Given the description of an element on the screen output the (x, y) to click on. 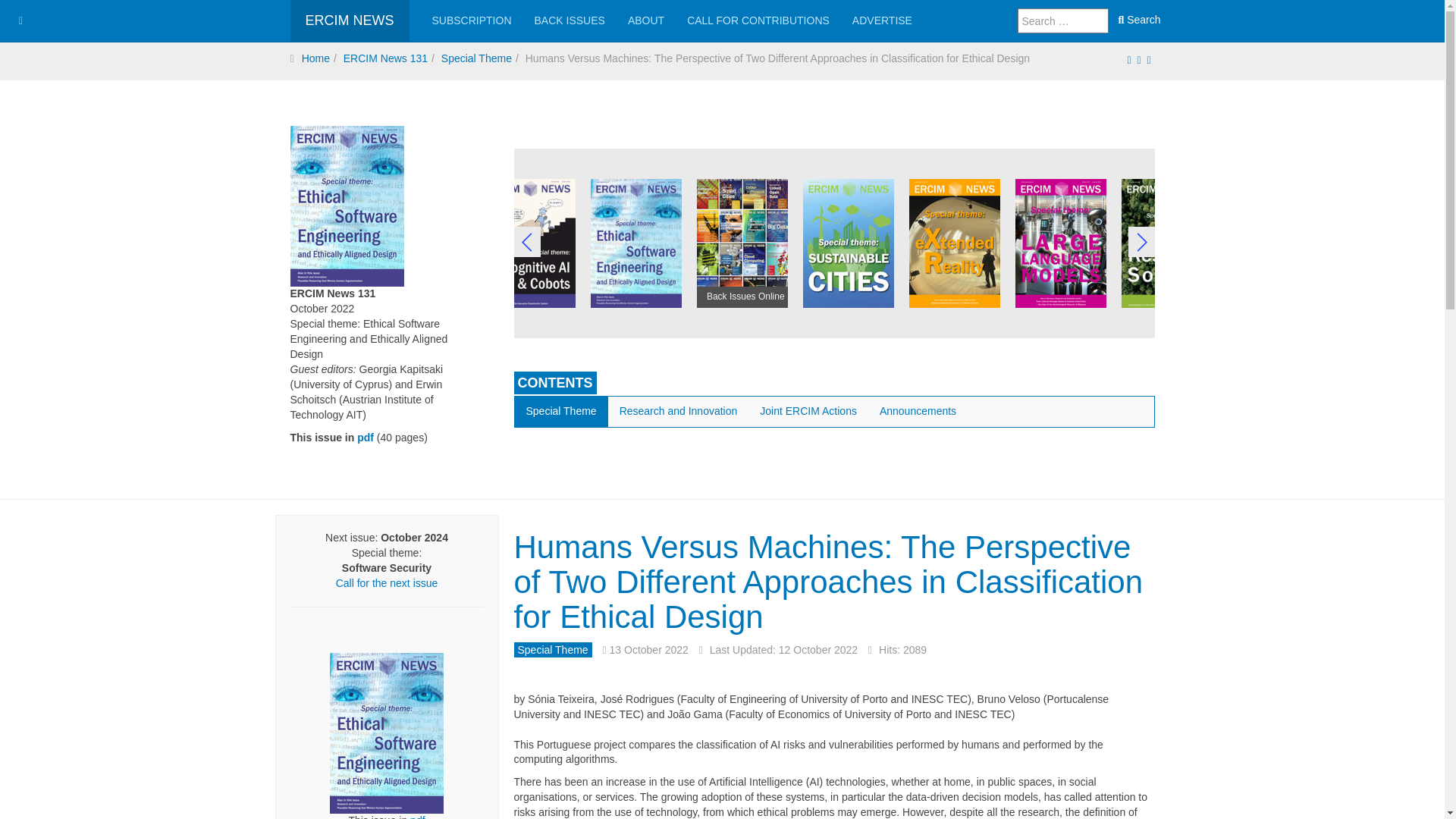
ERCIM News 131 (417, 816)
Search (1139, 20)
SUBSCRIPTION (472, 20)
ERCIM News 131 (387, 732)
BACK ISSUES (569, 20)
ERCIM News (349, 20)
ERCIM News 131 (365, 437)
Published:  (645, 650)
Category:  (552, 650)
ERCIM NEWS (349, 20)
